Given the description of an element on the screen output the (x, y) to click on. 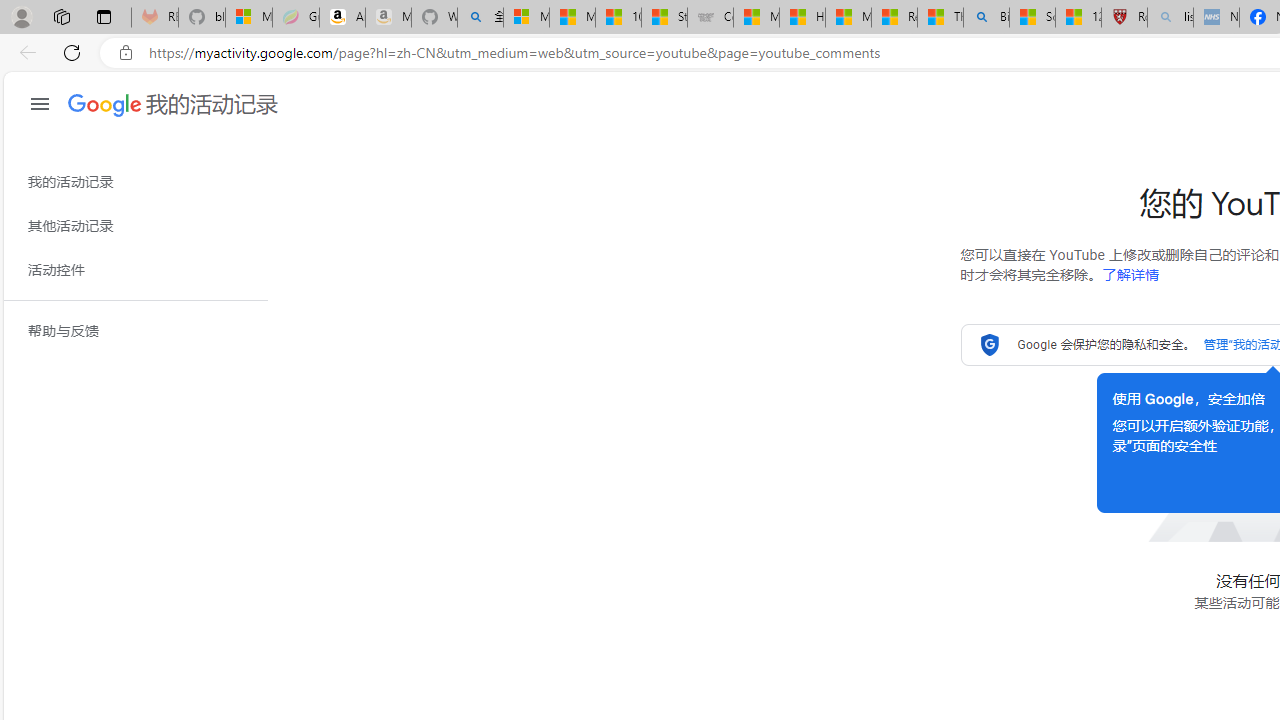
NCL Adult Asthma Inhaler Choice Guideline - Sleeping (1216, 17)
Bing (985, 17)
list of asthma inhalers uk - Search - Sleeping (1170, 17)
